Given the description of an element on the screen output the (x, y) to click on. 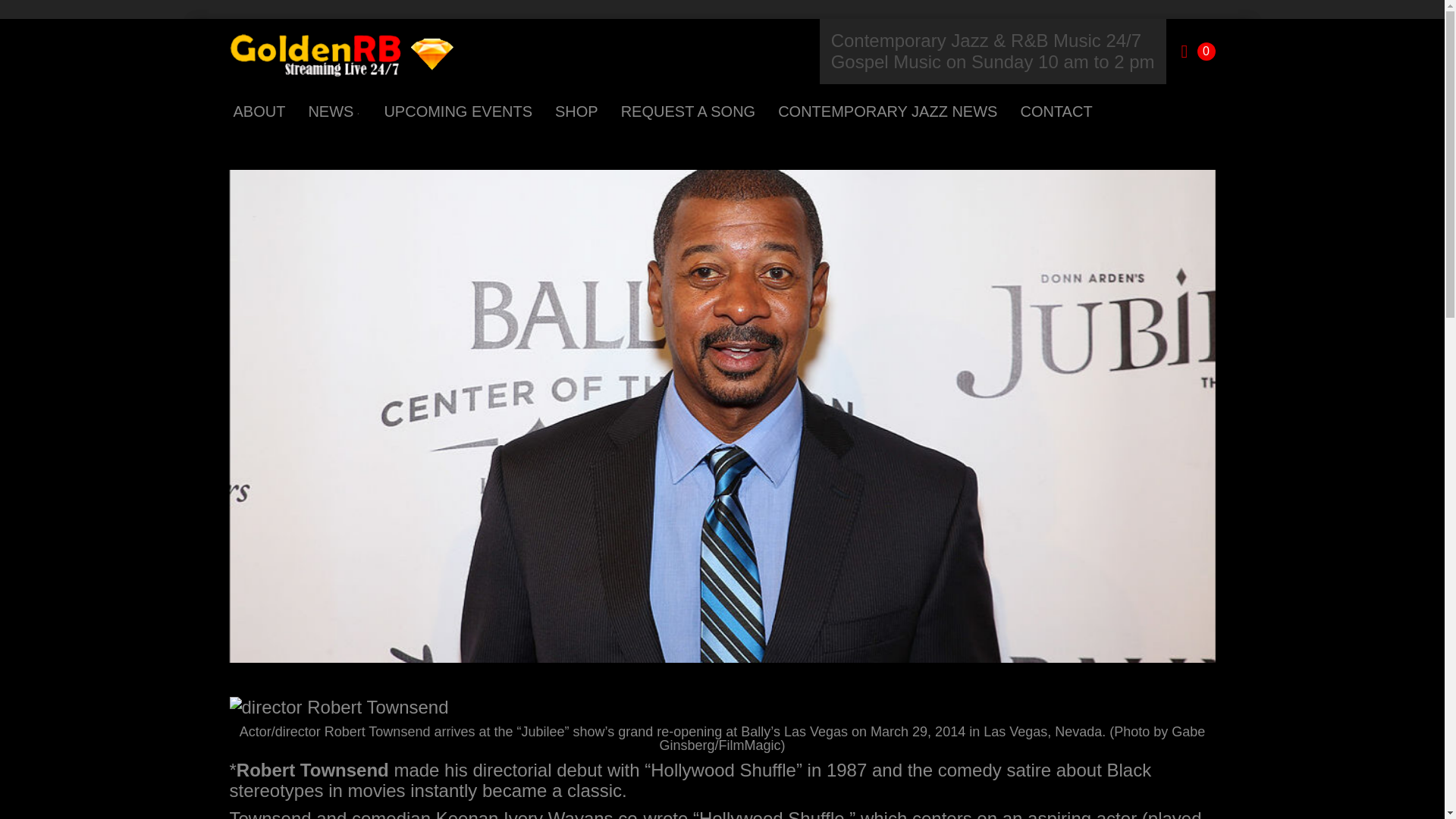
 0 (1197, 51)
SHOP (576, 111)
CONTACT (1056, 111)
ABOUT (258, 111)
CONTEMPORARY JAZZ NEWS (887, 111)
REQUEST A SONG (687, 111)
UPCOMING EVENTS (457, 111)
NEWS (334, 111)
